Given the description of an element on the screen output the (x, y) to click on. 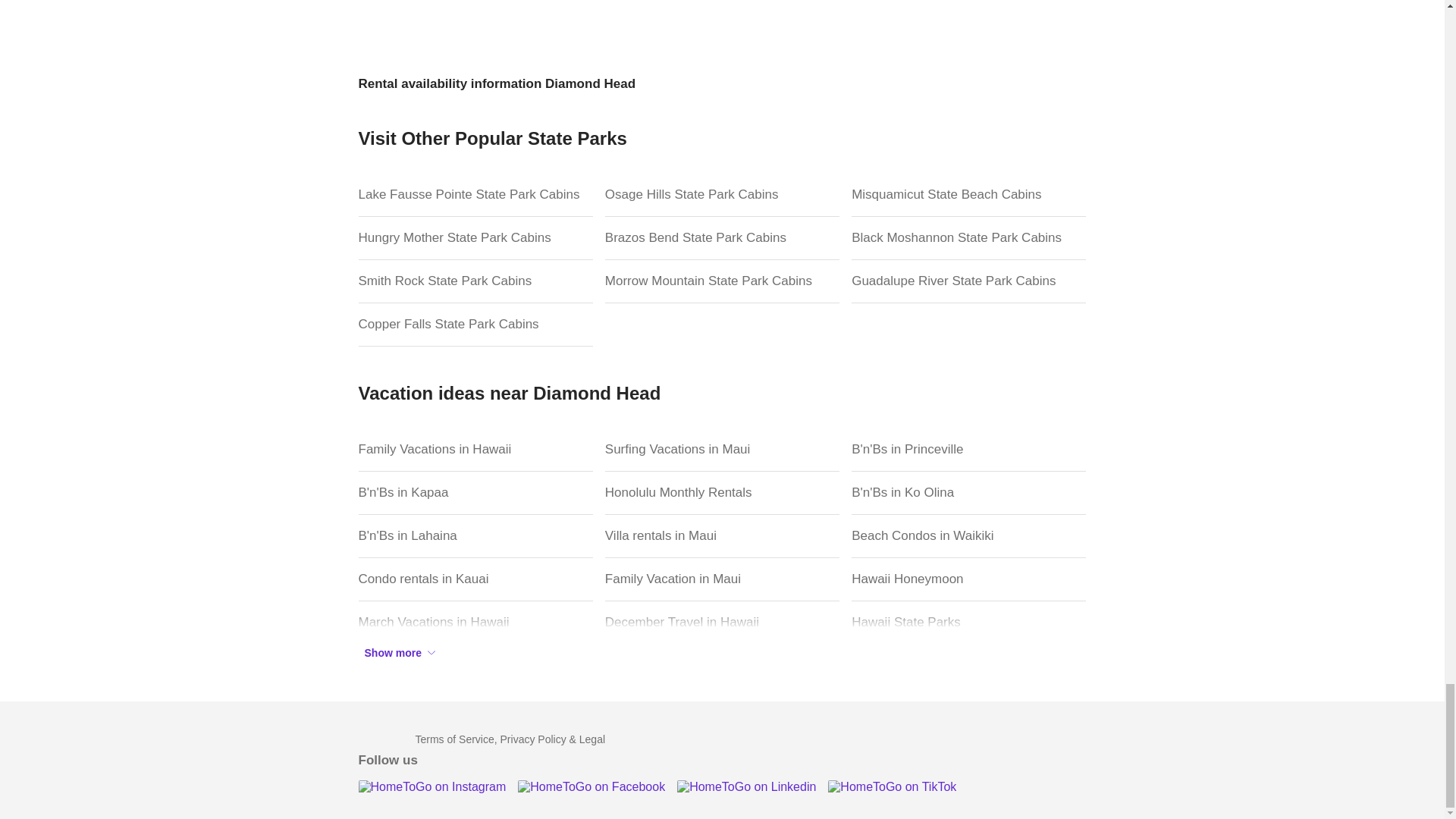
Lake Fausse Pointe State Park Cabins (475, 195)
Misquamicut State Beach Cabins (968, 195)
Misquamicut State Beach Cabins (968, 195)
Family Vacations in Hawaii (475, 449)
Hungry Mother State Park Cabins (475, 238)
B'n'Bs in Princeville (968, 449)
Honolulu Monthly Rentals (722, 493)
Guadalupe River State Park Cabins (968, 281)
Smith Rock State Park Cabins (475, 281)
Copper Falls State Park Cabins (475, 324)
